Given the description of an element on the screen output the (x, y) to click on. 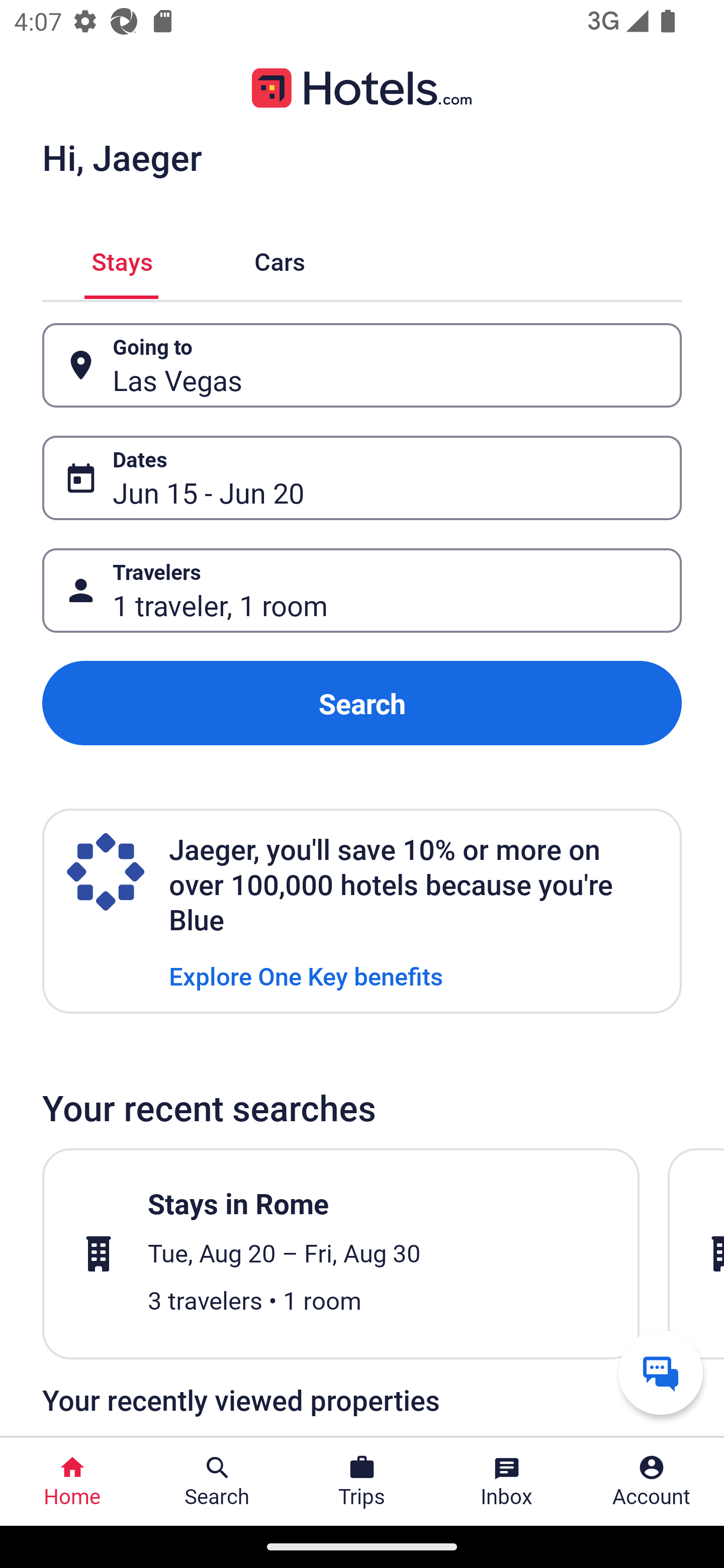
Hi, Jaeger (121, 156)
Cars (279, 259)
Going to Button Las Vegas (361, 365)
Dates Button Jun 15 - Jun 20 (361, 477)
Travelers Button 1 traveler, 1 room (361, 590)
Search (361, 702)
Get help from a virtual agent (660, 1371)
Search Search Button (216, 1481)
Trips Trips Button (361, 1481)
Inbox Inbox Button (506, 1481)
Account Profile. Button (651, 1481)
